Given the description of an element on the screen output the (x, y) to click on. 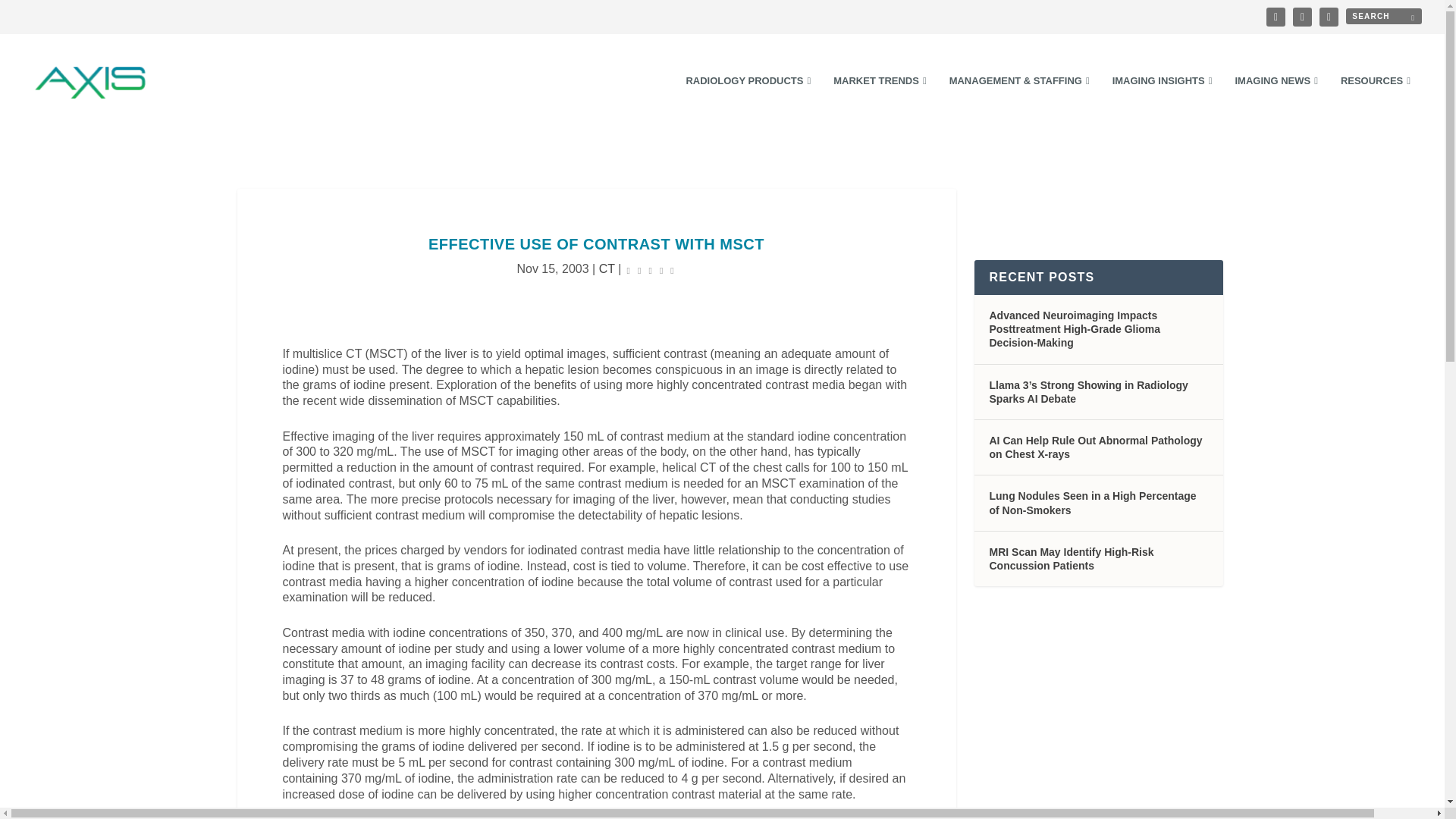
Rating: 0.00 (650, 269)
RESOURCES (1375, 101)
MARKET TRENDS (879, 101)
RADIOLOGY PRODUCTS (747, 101)
IMAGING NEWS (1275, 101)
Search for: (1383, 16)
IMAGING INSIGHTS (1162, 101)
CT (606, 268)
